Given the description of an element on the screen output the (x, y) to click on. 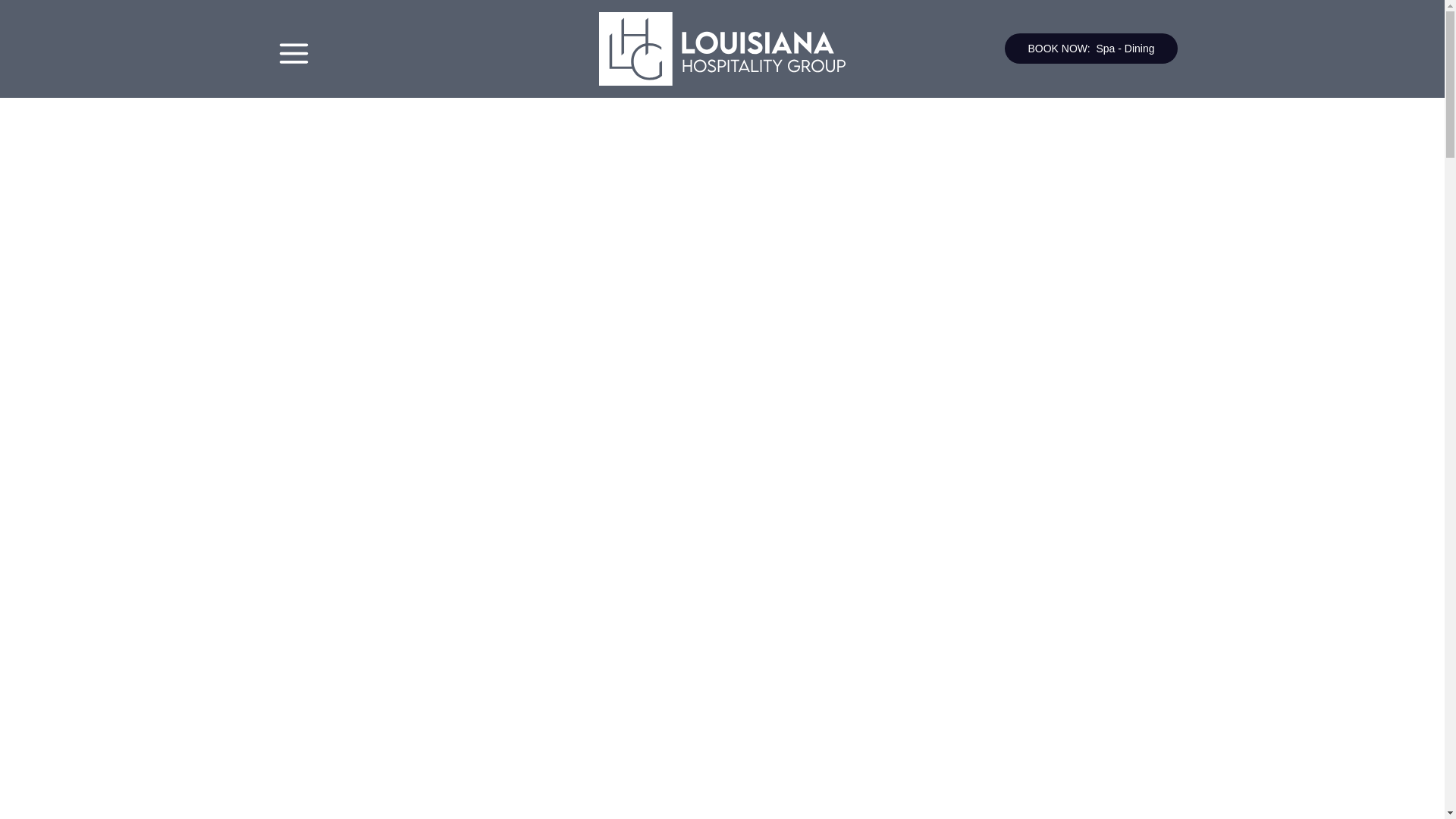
Main Menu (292, 53)
Spa (1105, 48)
Dining (1139, 48)
